Given the description of an element on the screen output the (x, y) to click on. 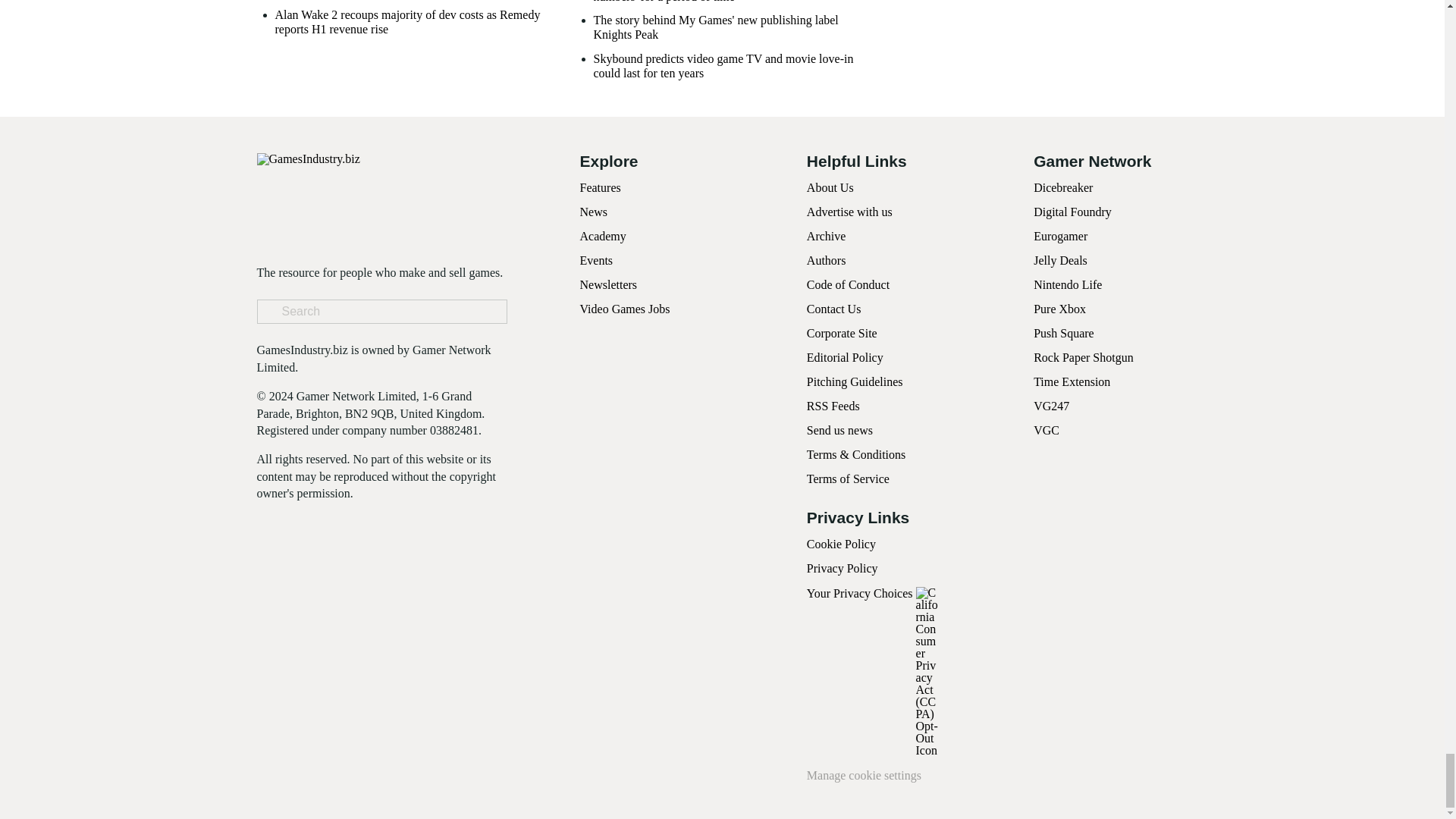
News (593, 211)
Video Games Jobs (624, 308)
Authors (825, 259)
About Us (829, 187)
Events (595, 259)
Features (599, 187)
Advertise with us (849, 211)
Newsletters (608, 284)
Archive (825, 236)
Academy (602, 236)
